Given the description of an element on the screen output the (x, y) to click on. 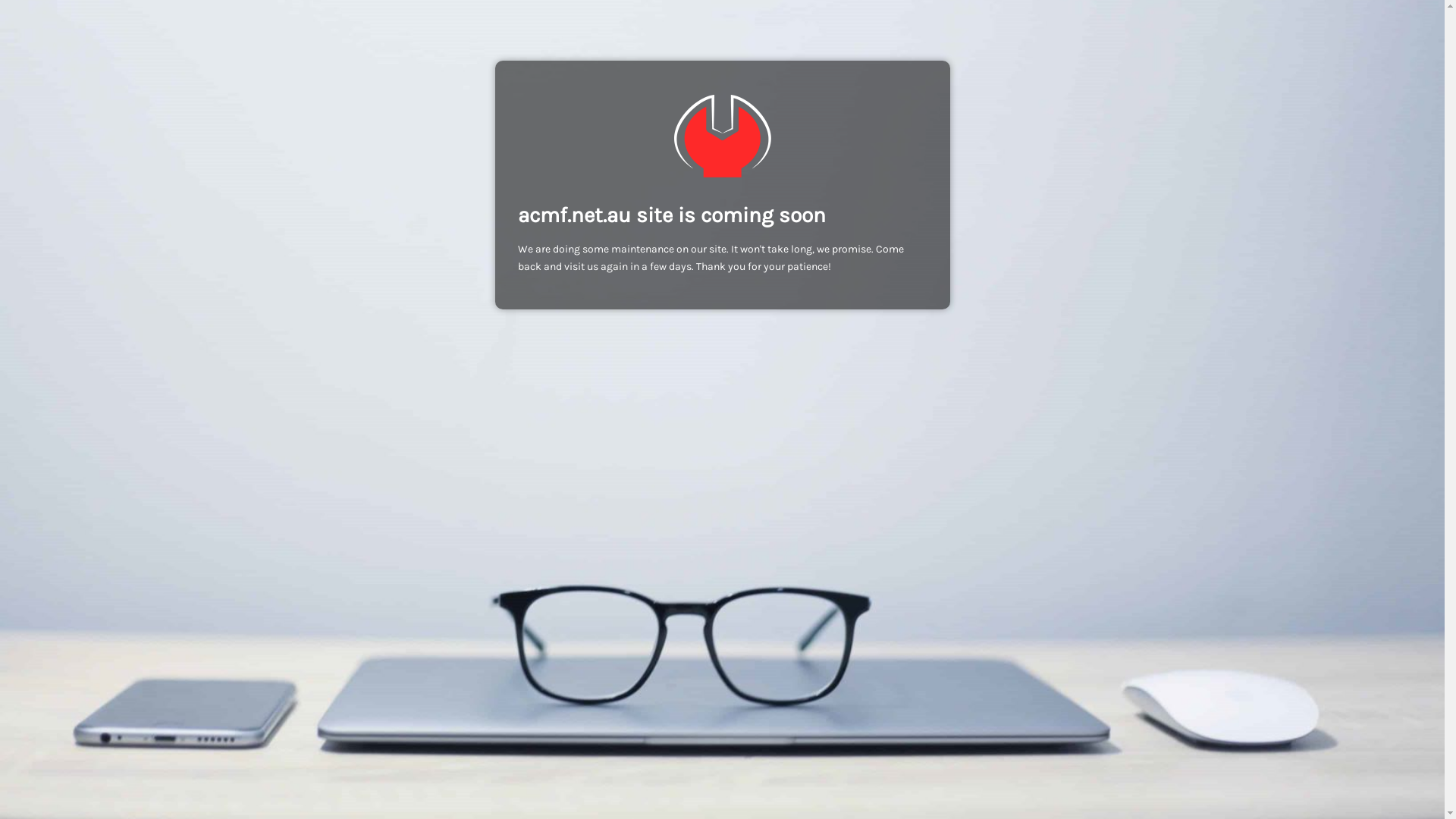
ACMF Metal Fabrication Element type: hover (721, 135)
